Given the description of an element on the screen output the (x, y) to click on. 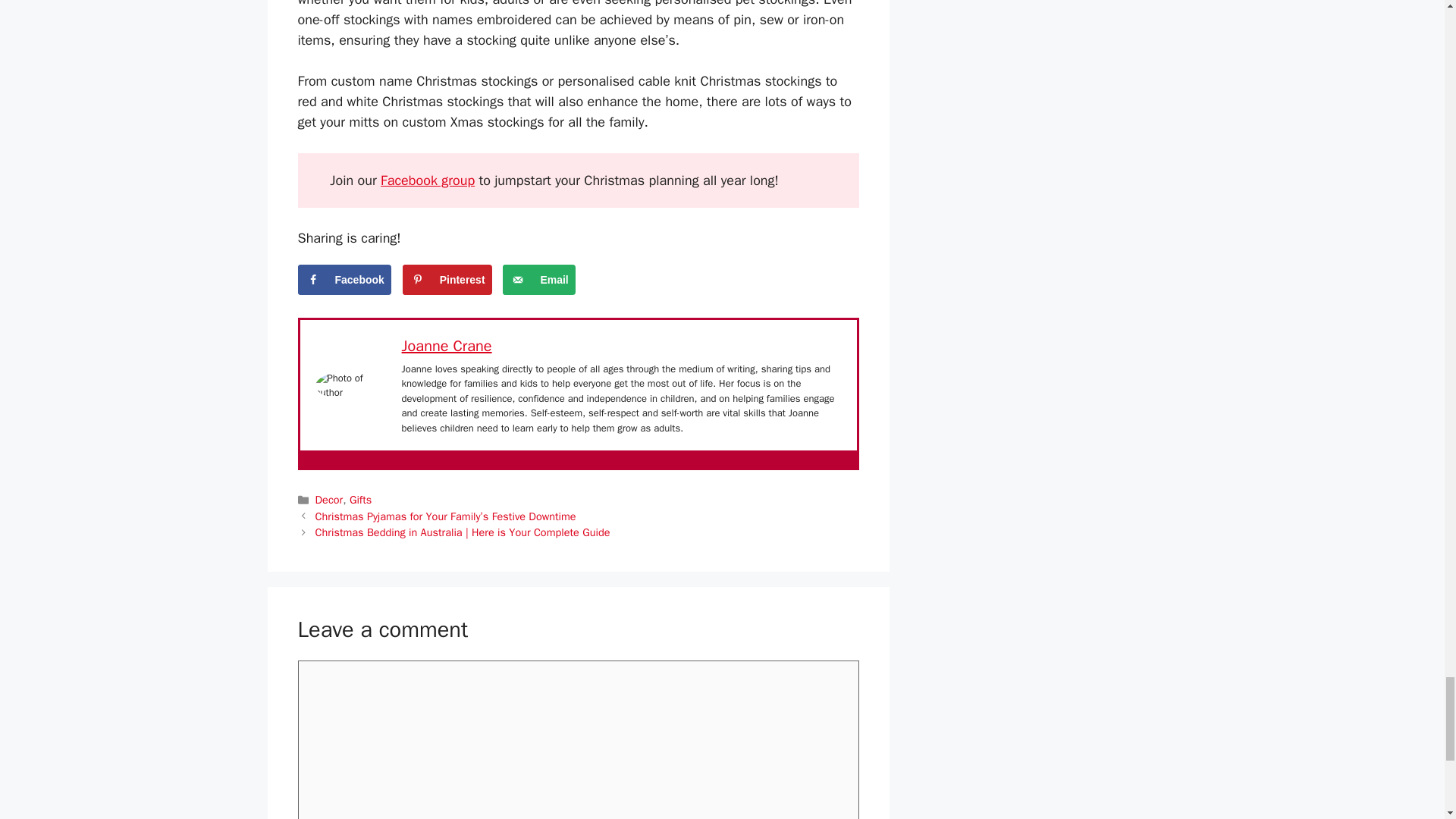
Share on Facebook (343, 279)
Send over email (538, 279)
Save to Pinterest (447, 279)
